Given the description of an element on the screen output the (x, y) to click on. 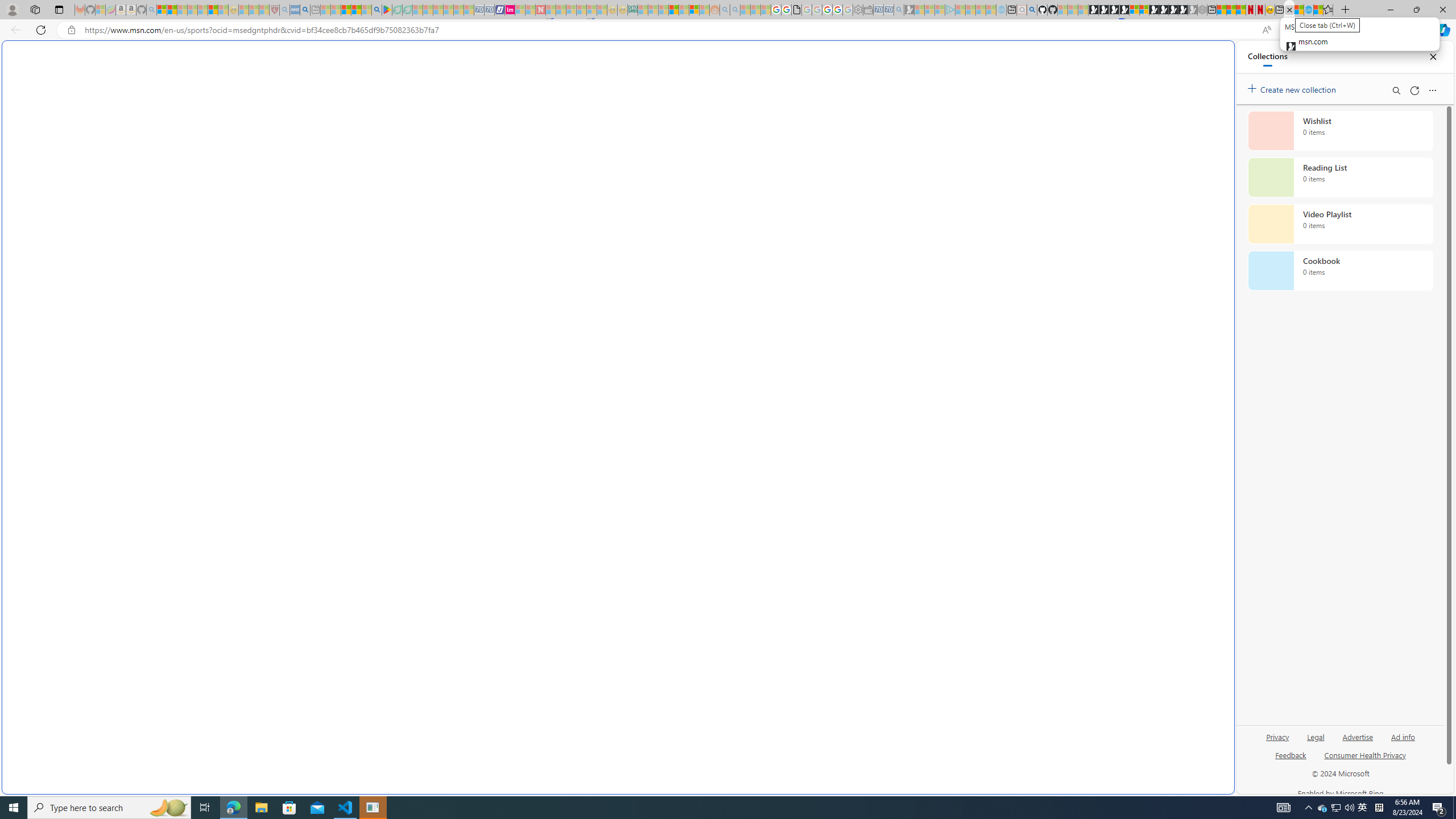
Wishlist collection, 0 items (1339, 130)
Create new collection (1293, 87)
